Given the description of an element on the screen output the (x, y) to click on. 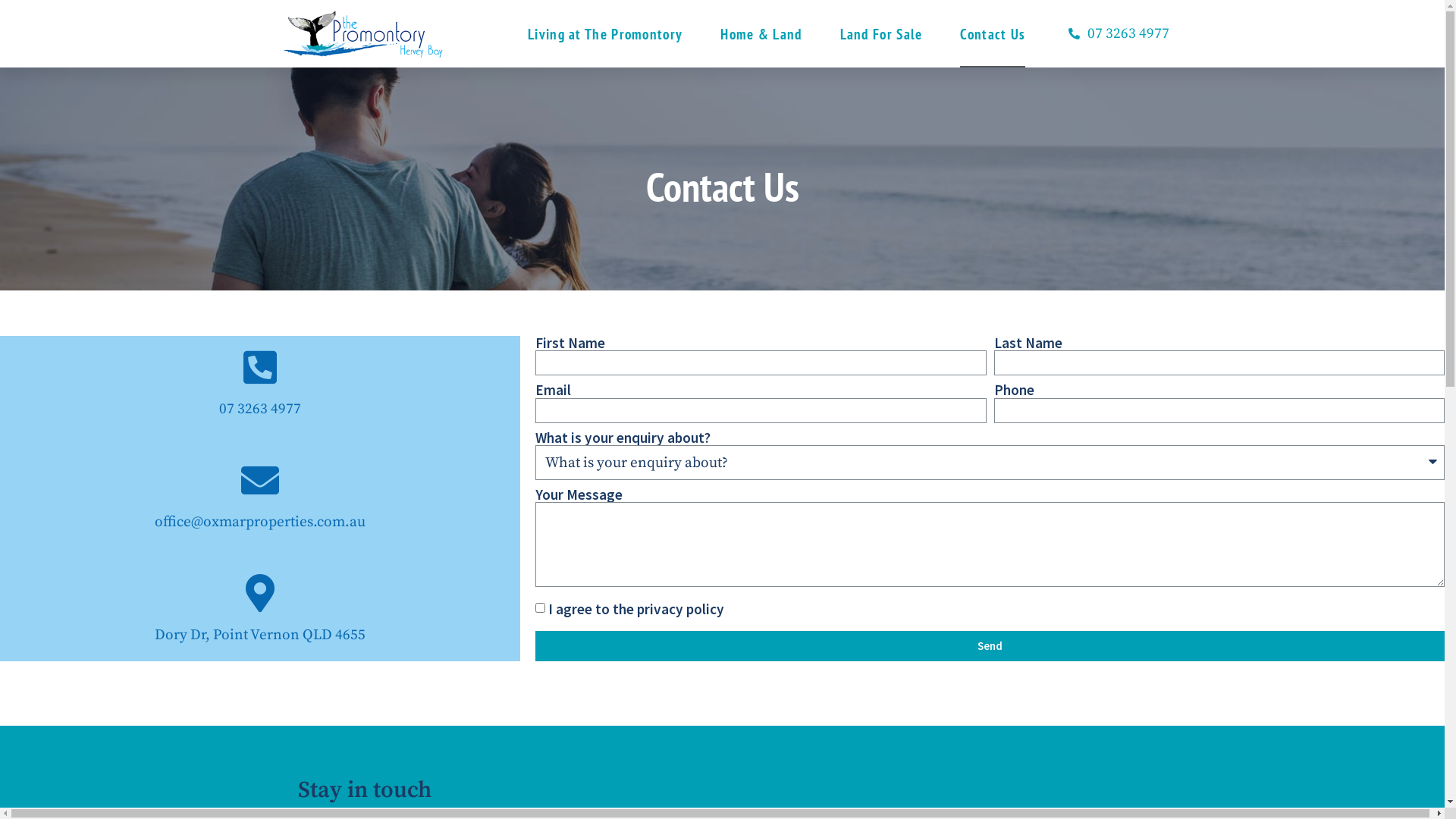
07 3263 4977 Element type: text (1108, 33)
Home & Land Element type: text (760, 33)
Contact Us Element type: text (992, 33)
Send Element type: text (989, 645)
07 3263 4977 Element type: text (260, 408)
Dory Dr, Point Vernon QLD 4655 Element type: text (260, 634)
Living at The Promontory Element type: text (604, 33)
Land For Sale Element type: text (881, 33)
office@oxmarproperties.com.au Element type: text (260, 521)
